Given the description of an element on the screen output the (x, y) to click on. 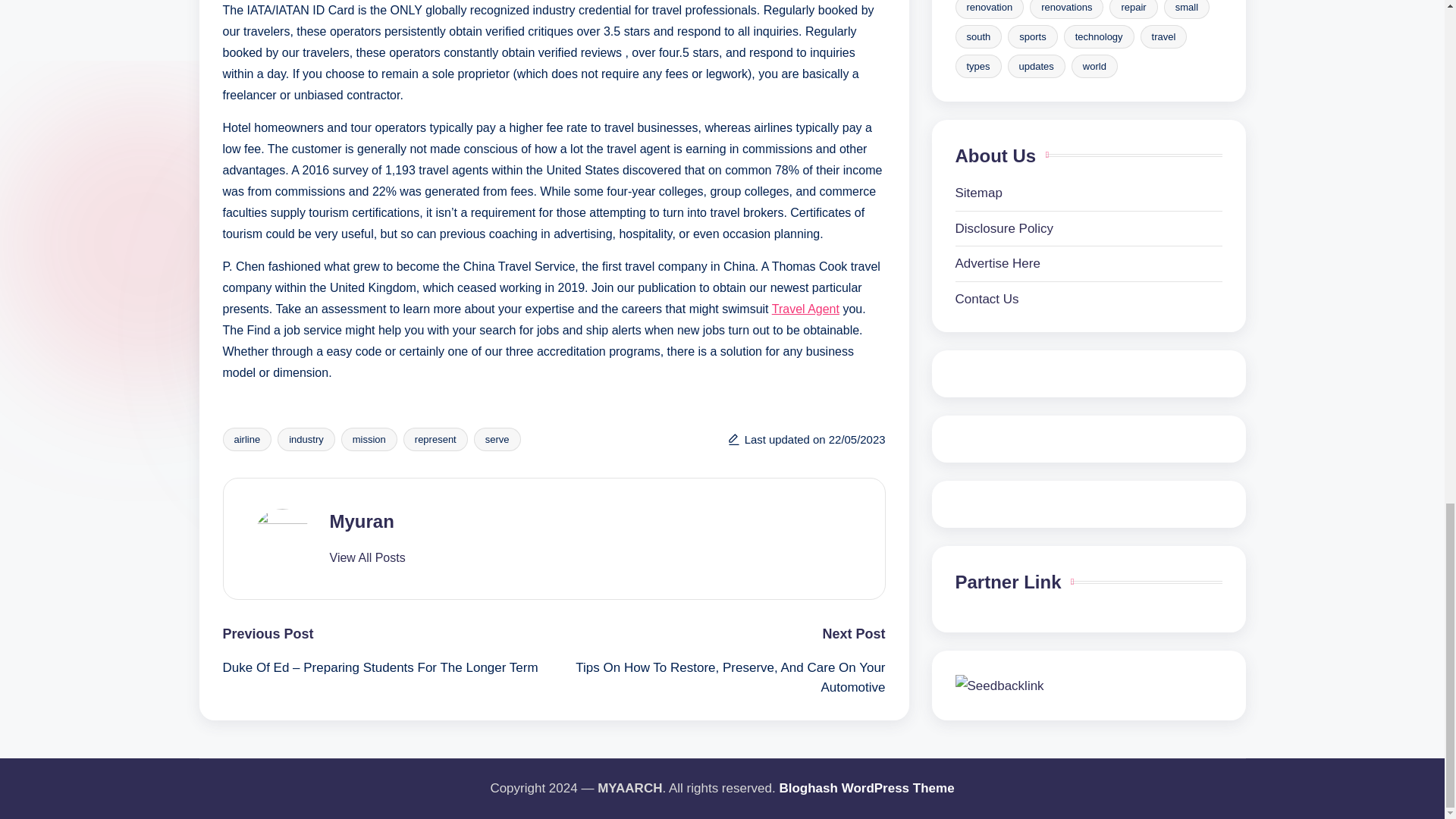
airline (247, 439)
Myuran (361, 521)
Travel Agent (805, 308)
industry (306, 439)
mission (368, 439)
View All Posts (366, 558)
serve (497, 439)
represent (435, 439)
Seedbacklink (999, 234)
